Given the description of an element on the screen output the (x, y) to click on. 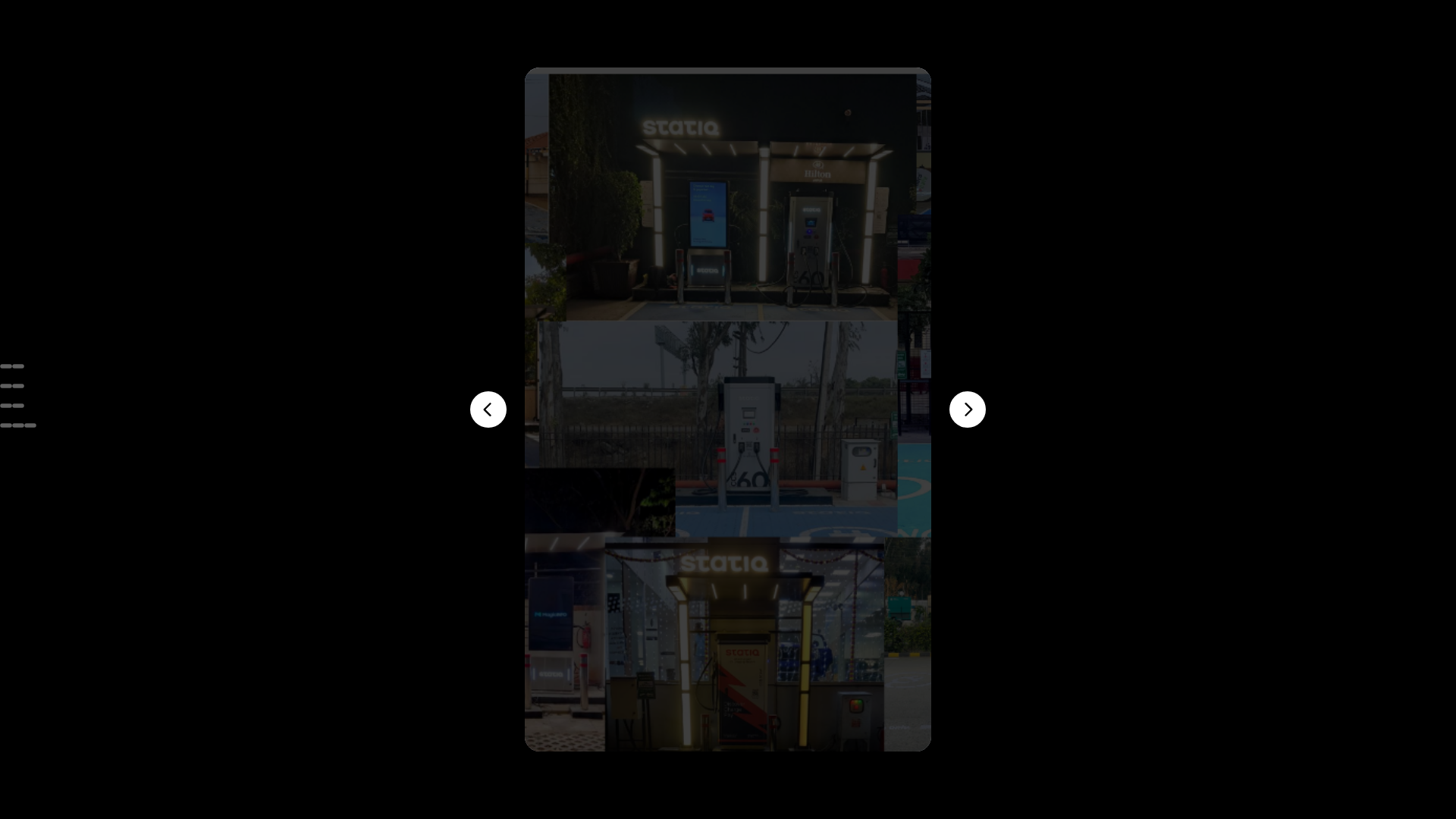
Download App (729, 647)
